Given the description of an element on the screen output the (x, y) to click on. 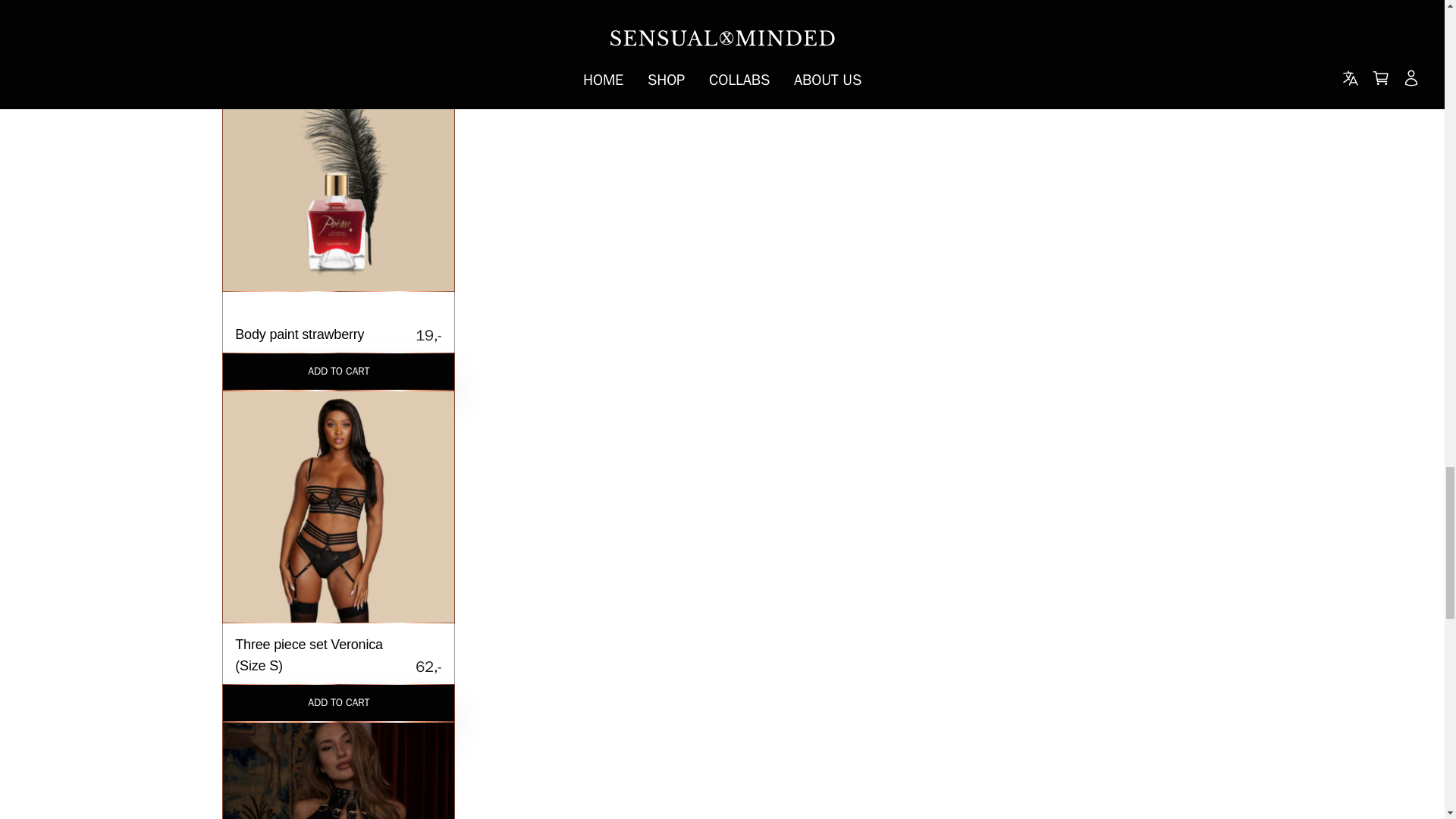
ADD TO CART (338, 371)
ADD TO CART (338, 770)
